Given the description of an element on the screen output the (x, y) to click on. 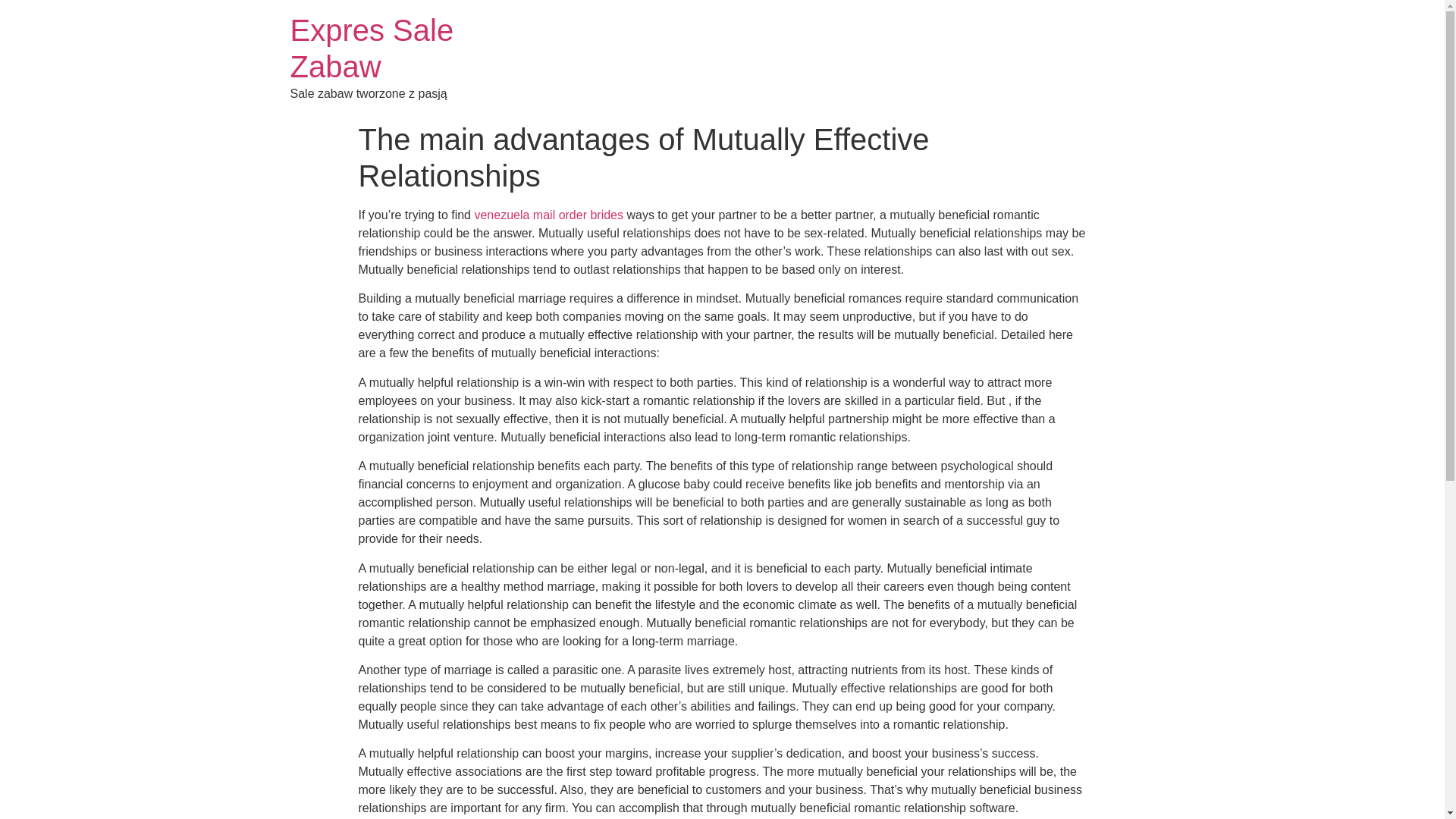
Expres Sale Zabaw (370, 48)
venezuela mail order brides (548, 214)
